Given the description of an element on the screen output the (x, y) to click on. 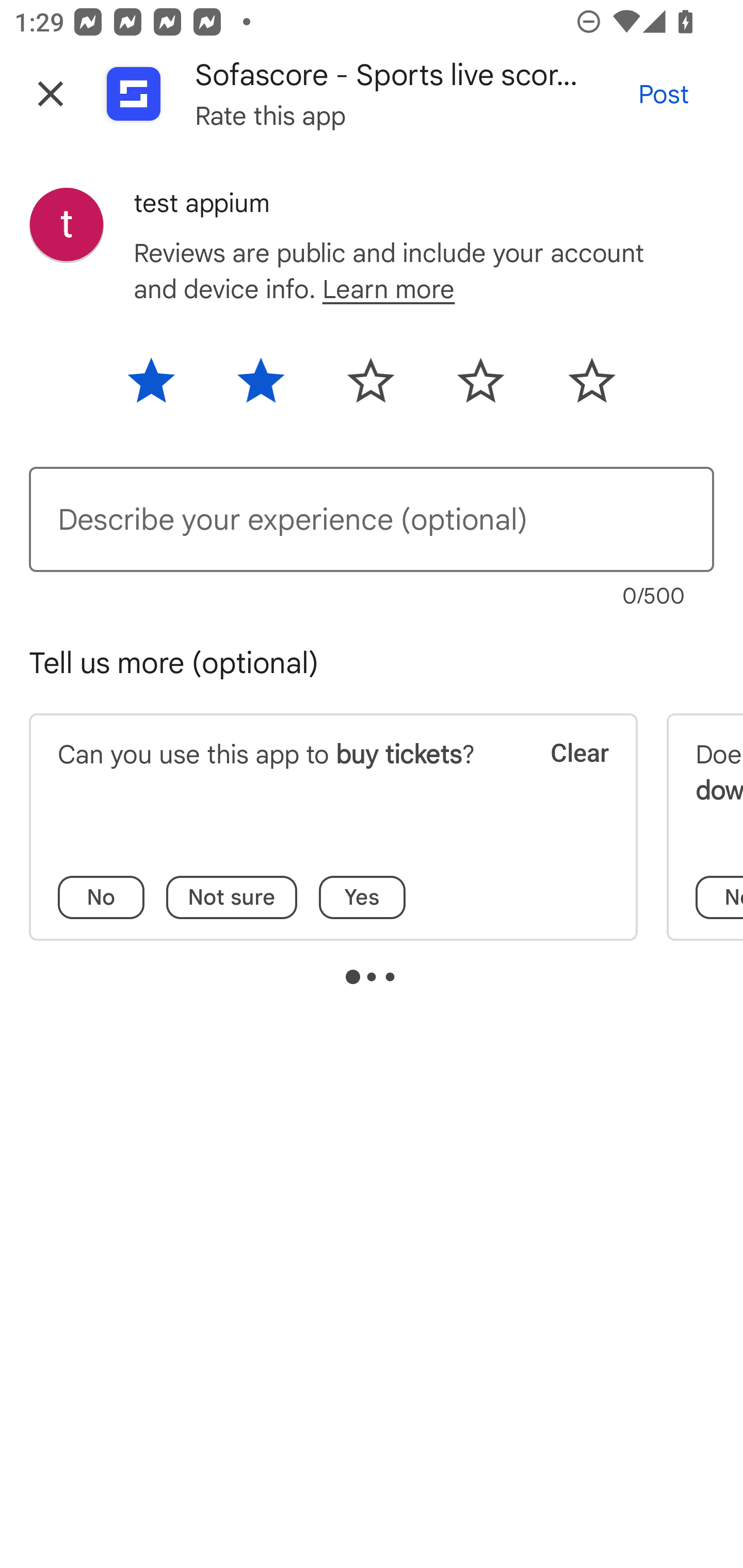
Close (50, 93)
Post (663, 93)
First star selected (163, 387)
Second star selected (260, 387)
Third star unselected (370, 387)
Fourth star unselected (480, 387)
Fifth star unselected (577, 387)
Describe your experience (optional) (371, 519)
Clear (565, 778)
No (100, 897)
Not sure (231, 897)
Yes (361, 897)
